Given the description of an element on the screen output the (x, y) to click on. 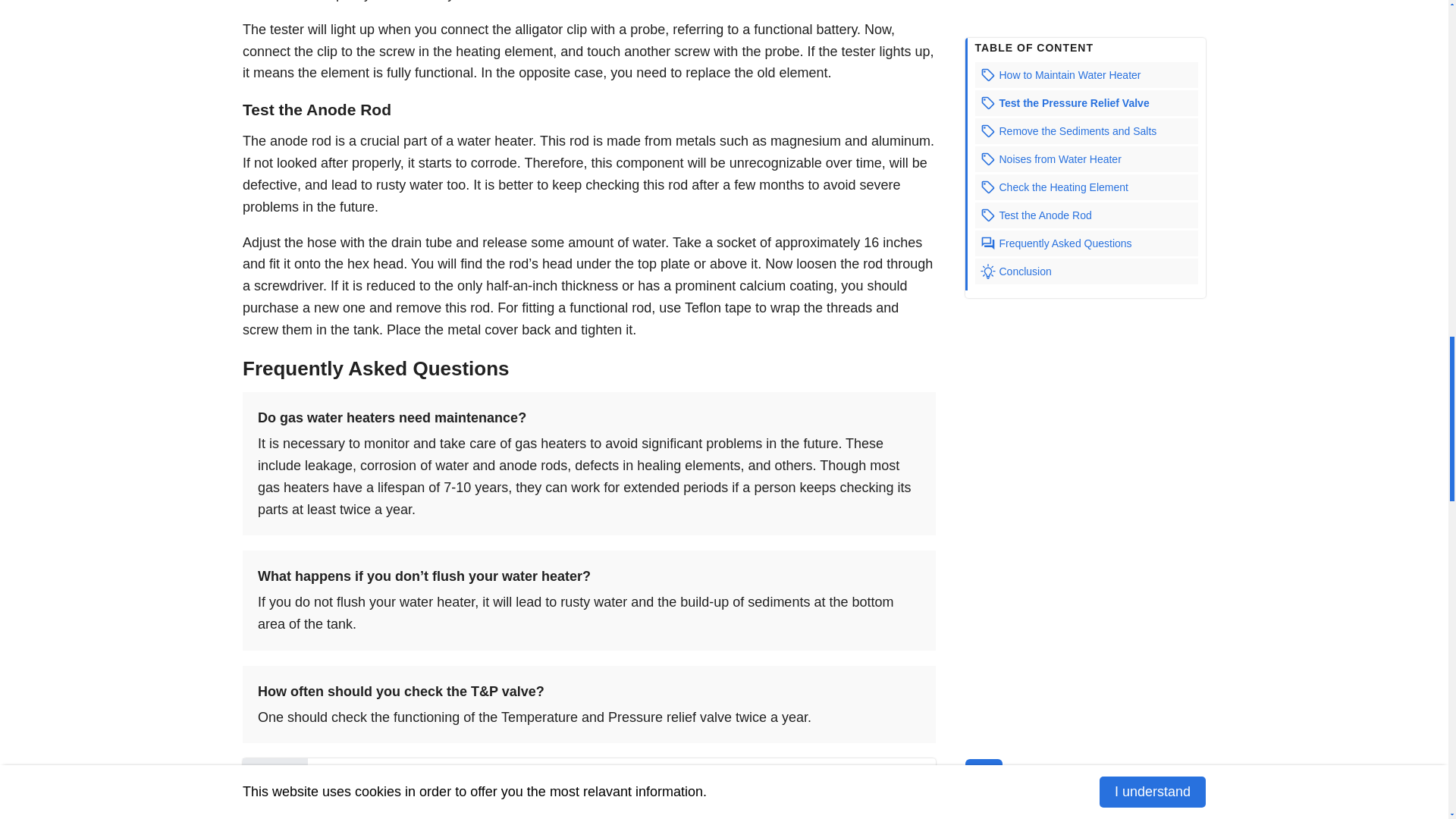
Best Electric Tankless Water Heaters for RV (558, 793)
Best Electric Tankless Water Heater (533, 771)
Best Under-Sink Water Heaters (520, 813)
